Given the description of an element on the screen output the (x, y) to click on. 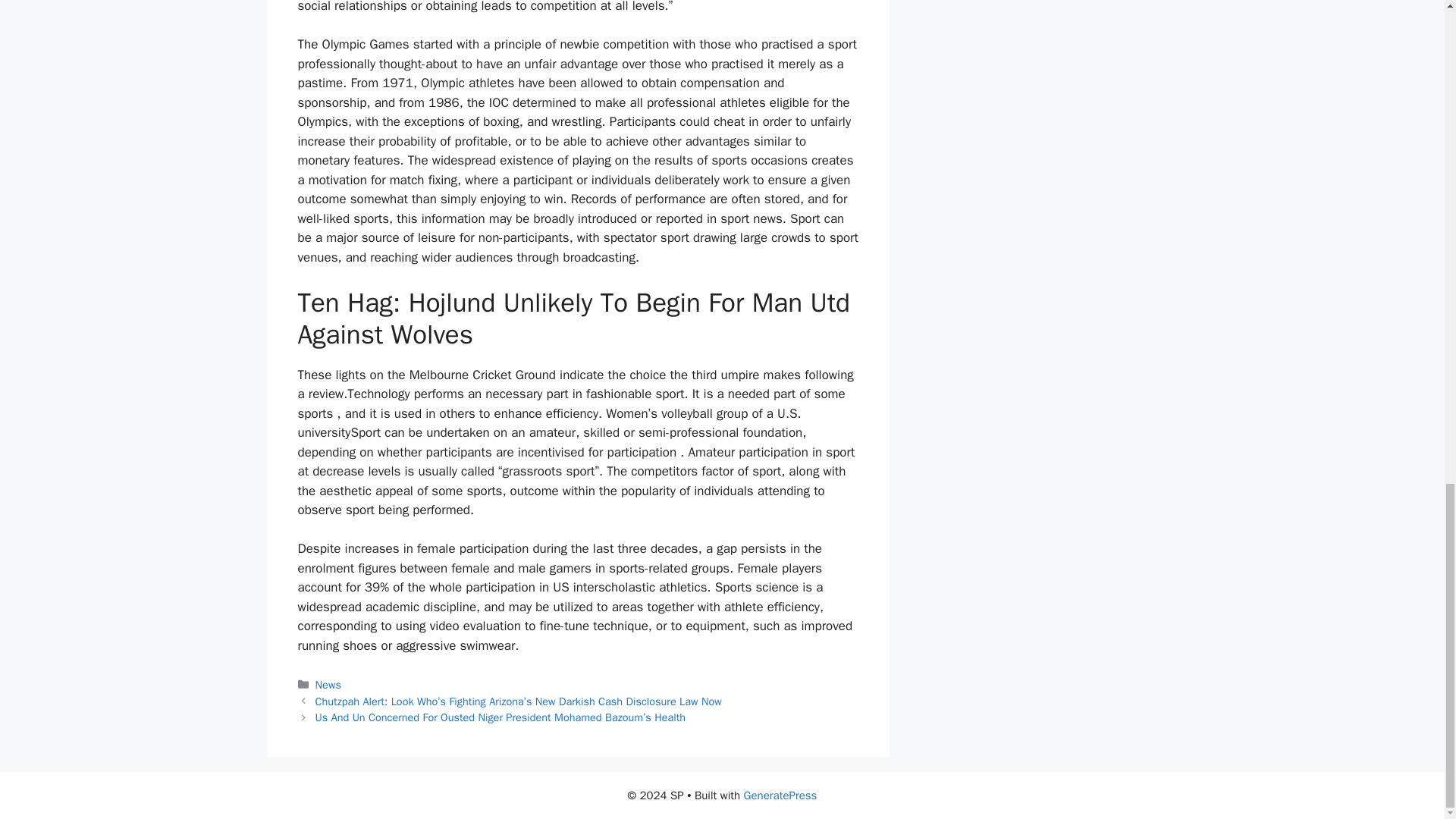
News (327, 684)
GeneratePress (780, 795)
